Given the description of an element on the screen output the (x, y) to click on. 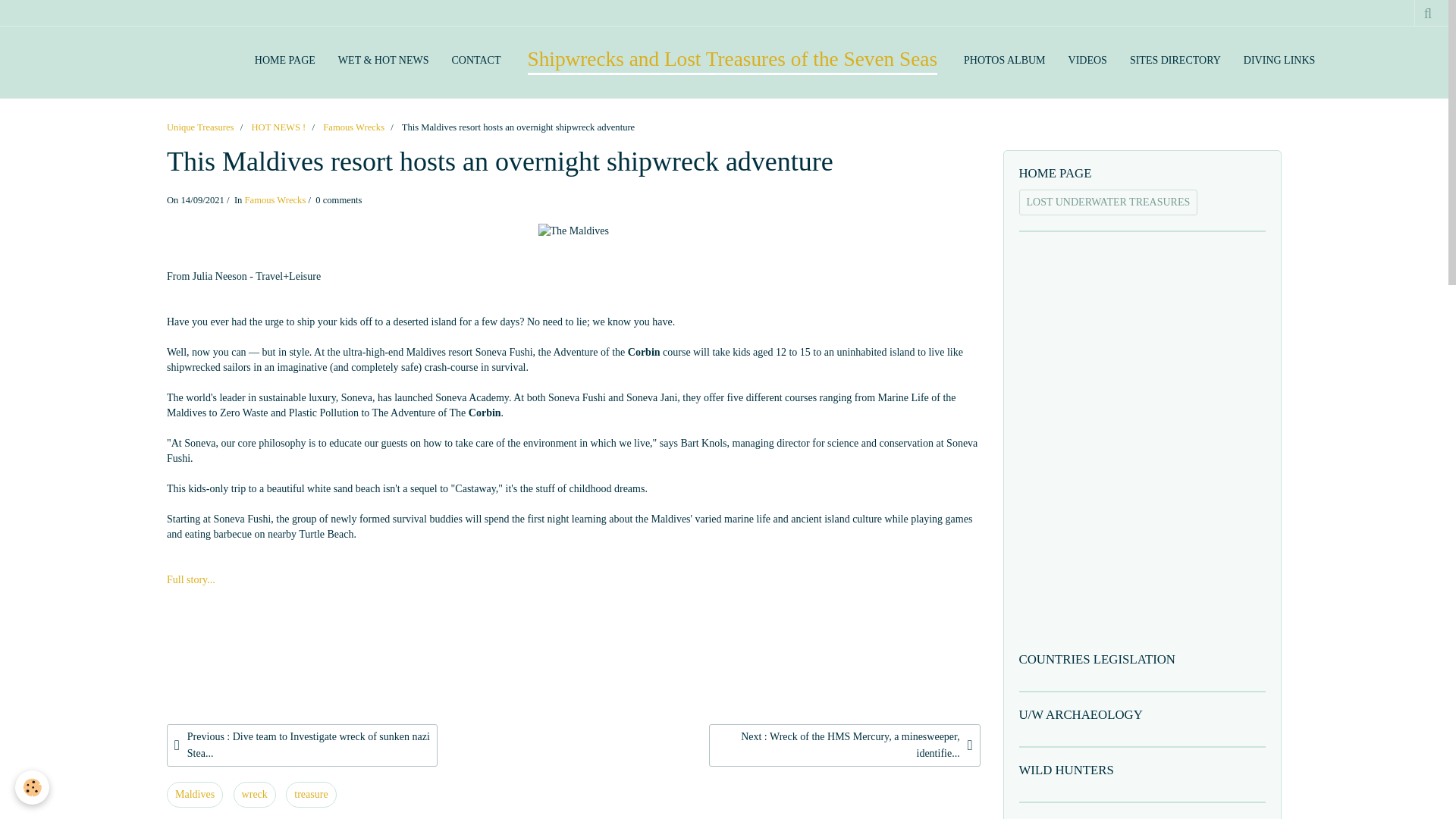
Unique Treasures (200, 127)
SITES DIRECTORY (1174, 60)
wreck (254, 794)
VIDEOS (1087, 60)
PHOTOS ALBUM (1004, 60)
Famous Wrecks (353, 127)
HOT NEWS ! (277, 127)
Next : Wreck of the HMS Mercury, a minesweeper, identifie... (844, 744)
HOME PAGE (284, 60)
treasure (310, 794)
Shipwrecks and Lost Treasures of the Seven Seas (732, 59)
DIVING LINKS (1278, 60)
CONTACT (475, 60)
Full story... (191, 579)
Famous Wrecks (274, 199)
